Given the description of an element on the screen output the (x, y) to click on. 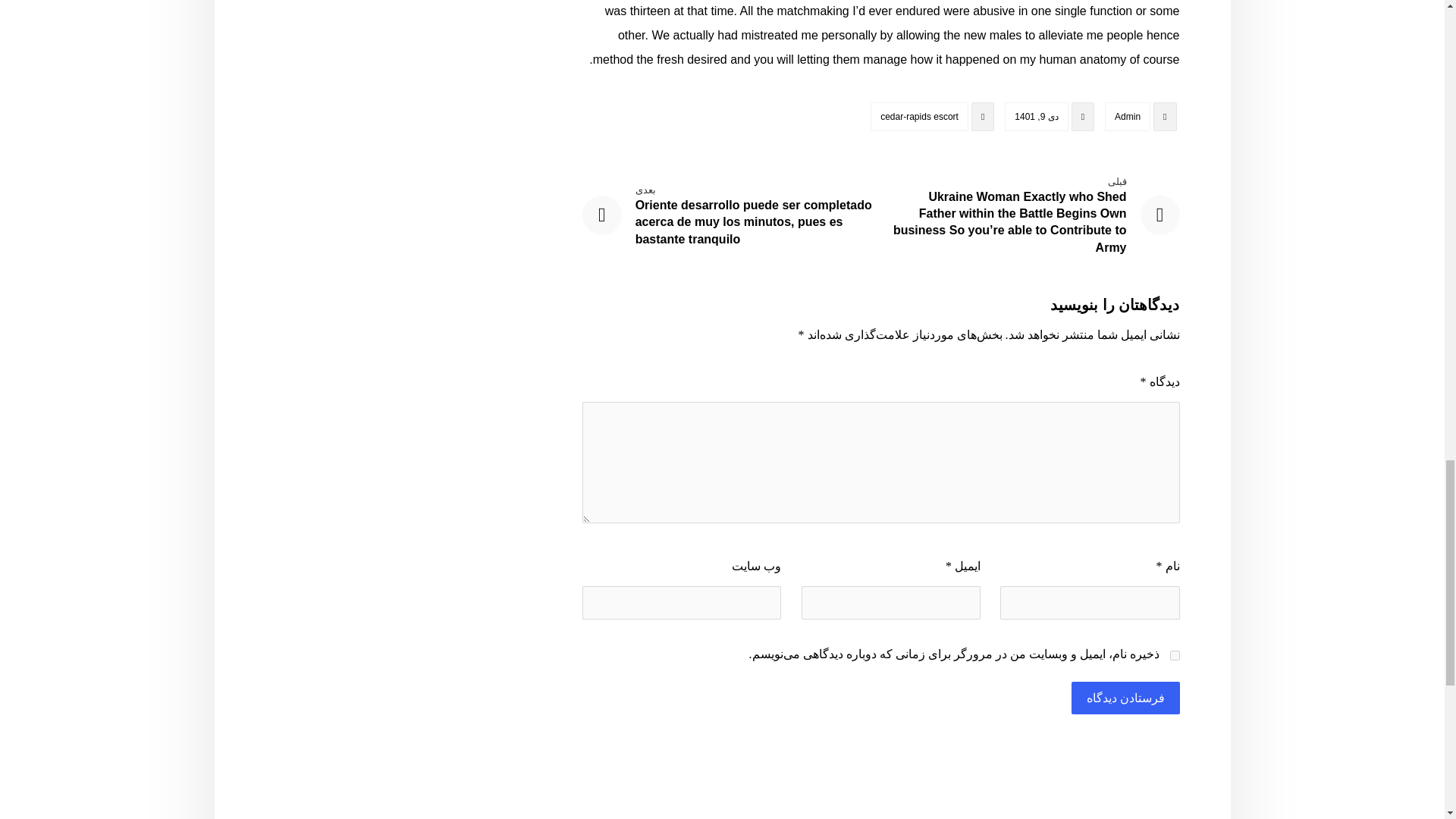
yes (1174, 655)
Admin (1127, 116)
